Given the description of an element on the screen output the (x, y) to click on. 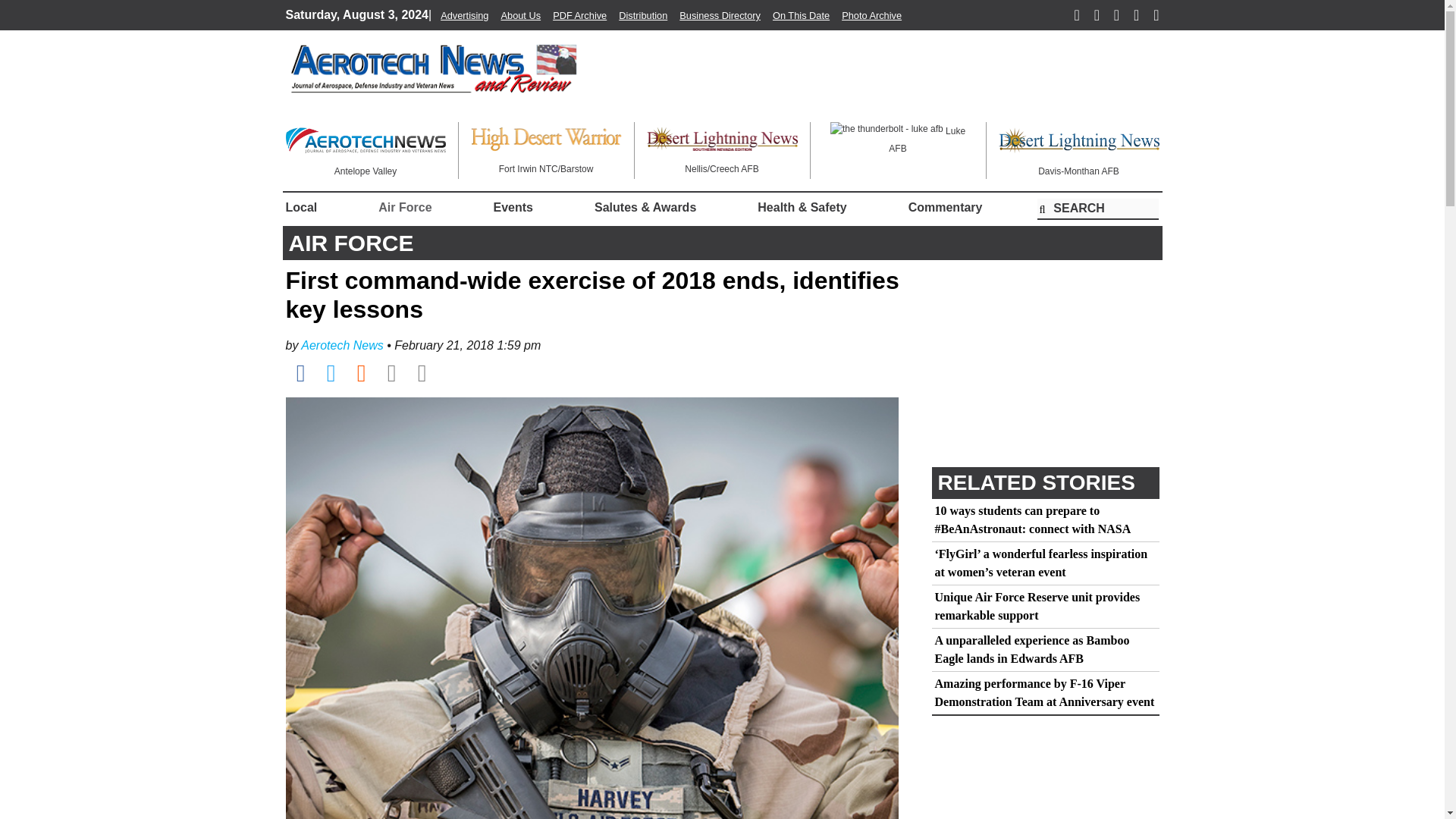
Events (512, 207)
Luke AFB (897, 138)
Business Directory (719, 15)
Photo Archive (871, 15)
Email story (390, 372)
AIR FORCE (350, 243)
Local (304, 207)
Distribution (642, 15)
Local (304, 207)
Advertising (464, 15)
Post to Facebook (300, 372)
Antelope Valley (365, 149)
Commentary (945, 207)
PDF Archive (580, 15)
Search (1097, 209)
